Given the description of an element on the screen output the (x, y) to click on. 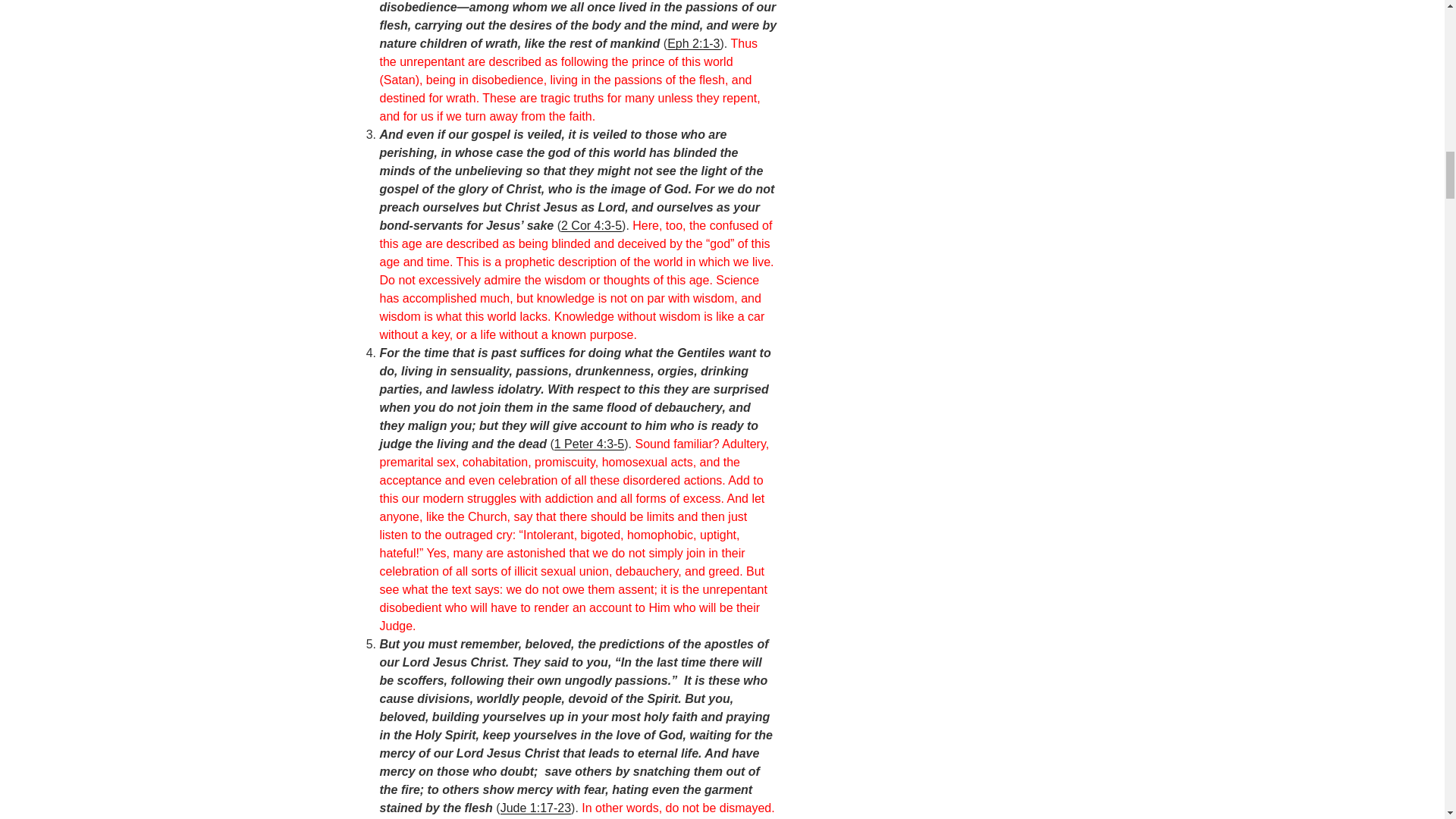
1 Peter 4:3-5 (589, 443)
Eph 2:1-3 (692, 42)
2 Cor 4:3-5 (590, 225)
Jude 1:17-23 (535, 807)
